Given the description of an element on the screen output the (x, y) to click on. 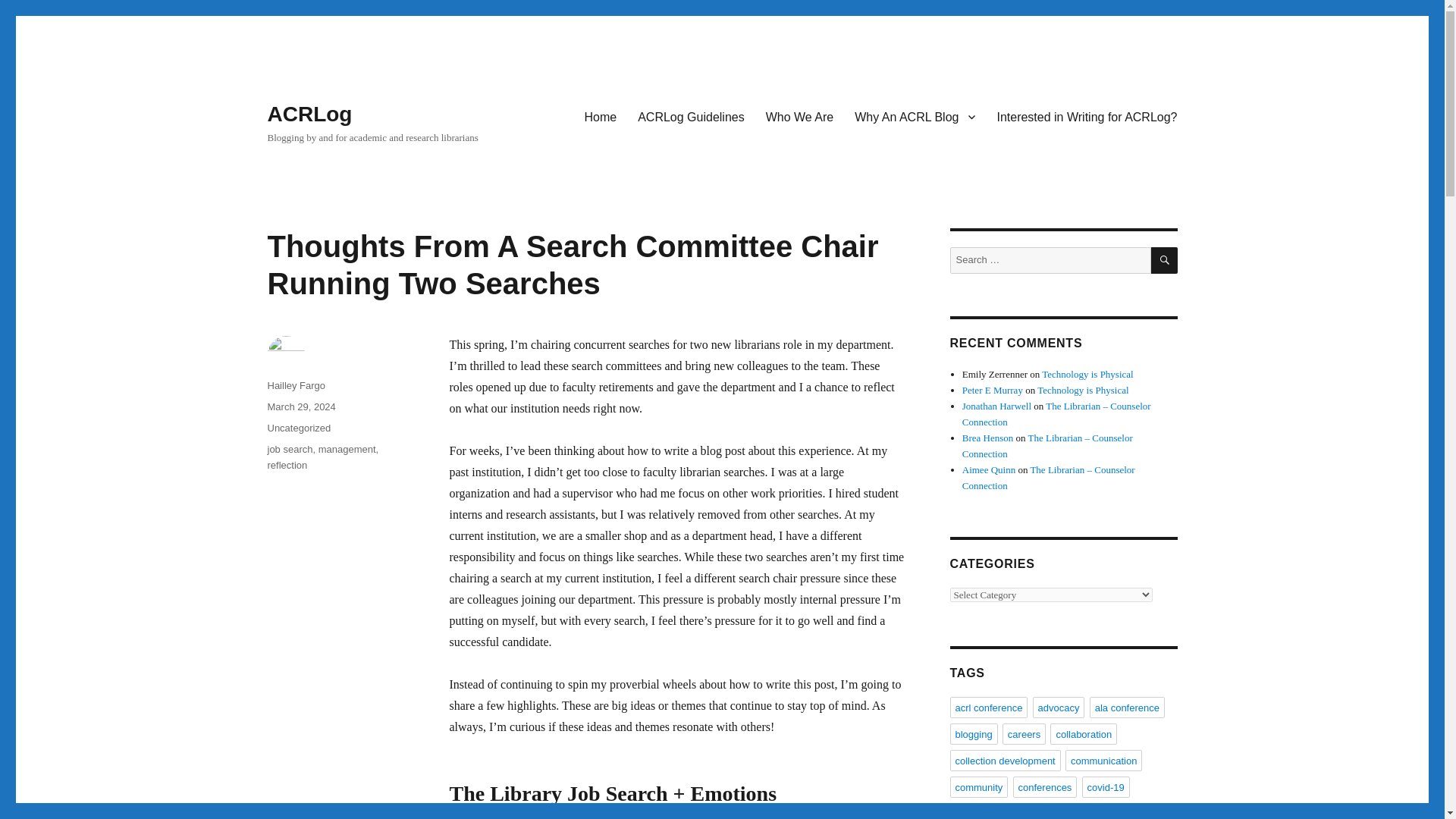
job search (289, 449)
blogging (973, 733)
Technology is Physical (1087, 374)
ala conference (1126, 707)
careers (1024, 733)
ACRLog Guidelines (691, 116)
Jonathan Harwell (996, 405)
March 29, 2024 (300, 406)
Who We Are (799, 116)
Hailley Fargo (295, 385)
